Given the description of an element on the screen output the (x, y) to click on. 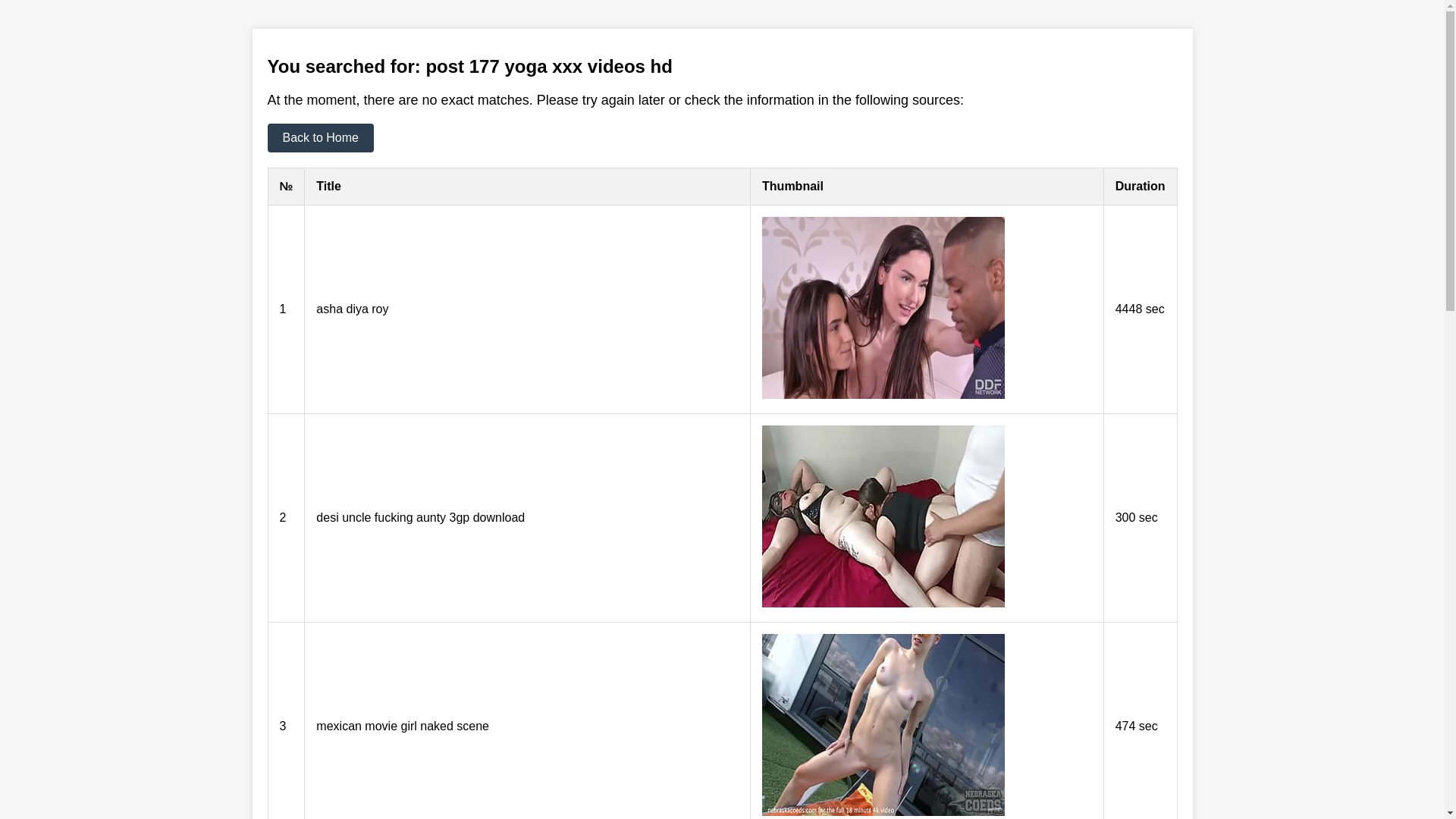
Back to Home Element type: text (319, 137)
Back to Home Element type: text (319, 137)
